Given the description of an element on the screen output the (x, y) to click on. 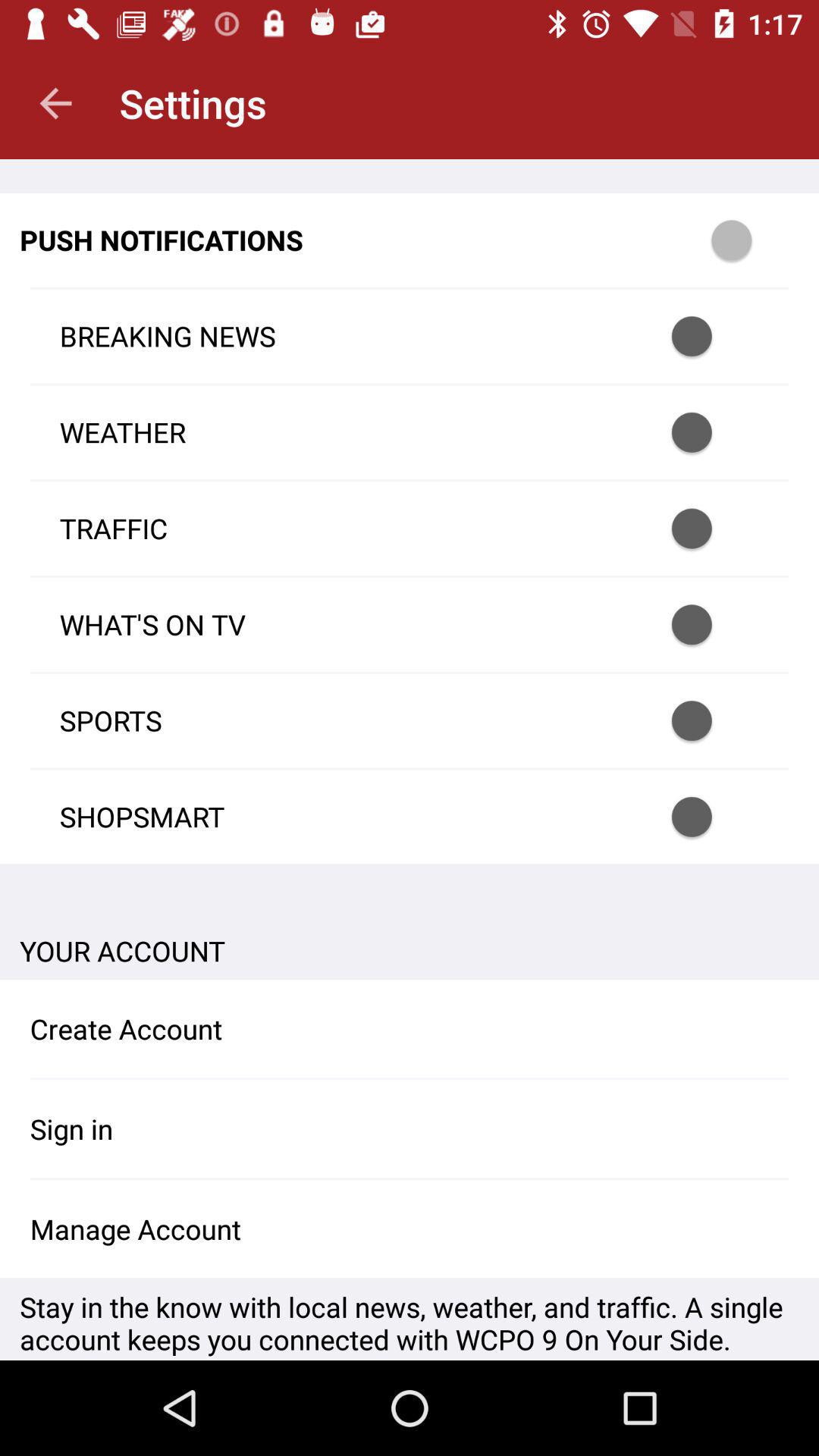
toggle traffic push notifications (711, 528)
